Given the description of an element on the screen output the (x, y) to click on. 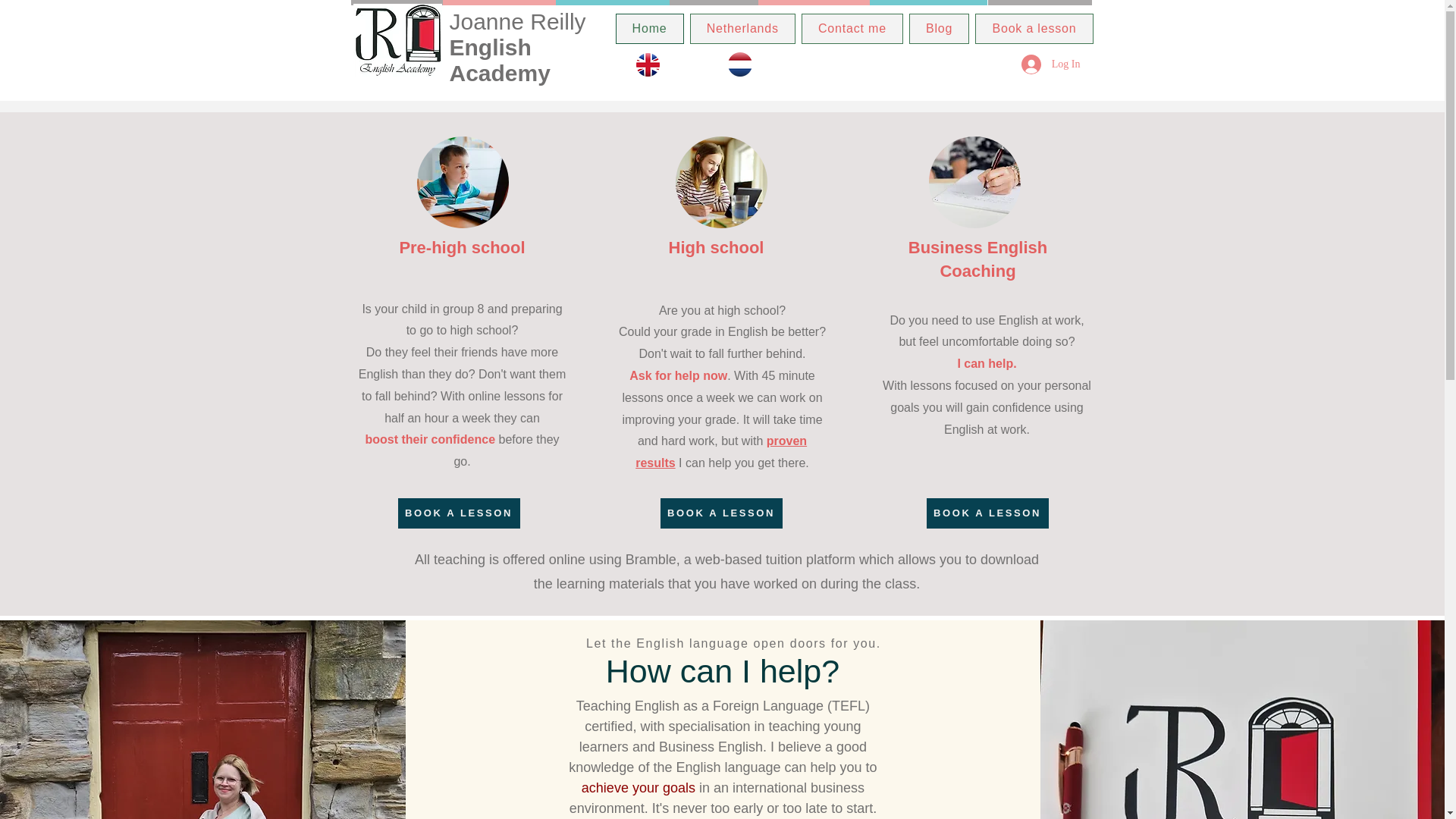
Log In (1050, 63)
Home (649, 28)
BOOK A LESSON (720, 512)
Netherlands (742, 28)
English Academy (499, 60)
Contact me (852, 28)
BOOK A LESSON (458, 512)
Joanne Reilly  (519, 21)
Book a lesson (1034, 28)
proven results (720, 451)
